Given the description of an element on the screen output the (x, y) to click on. 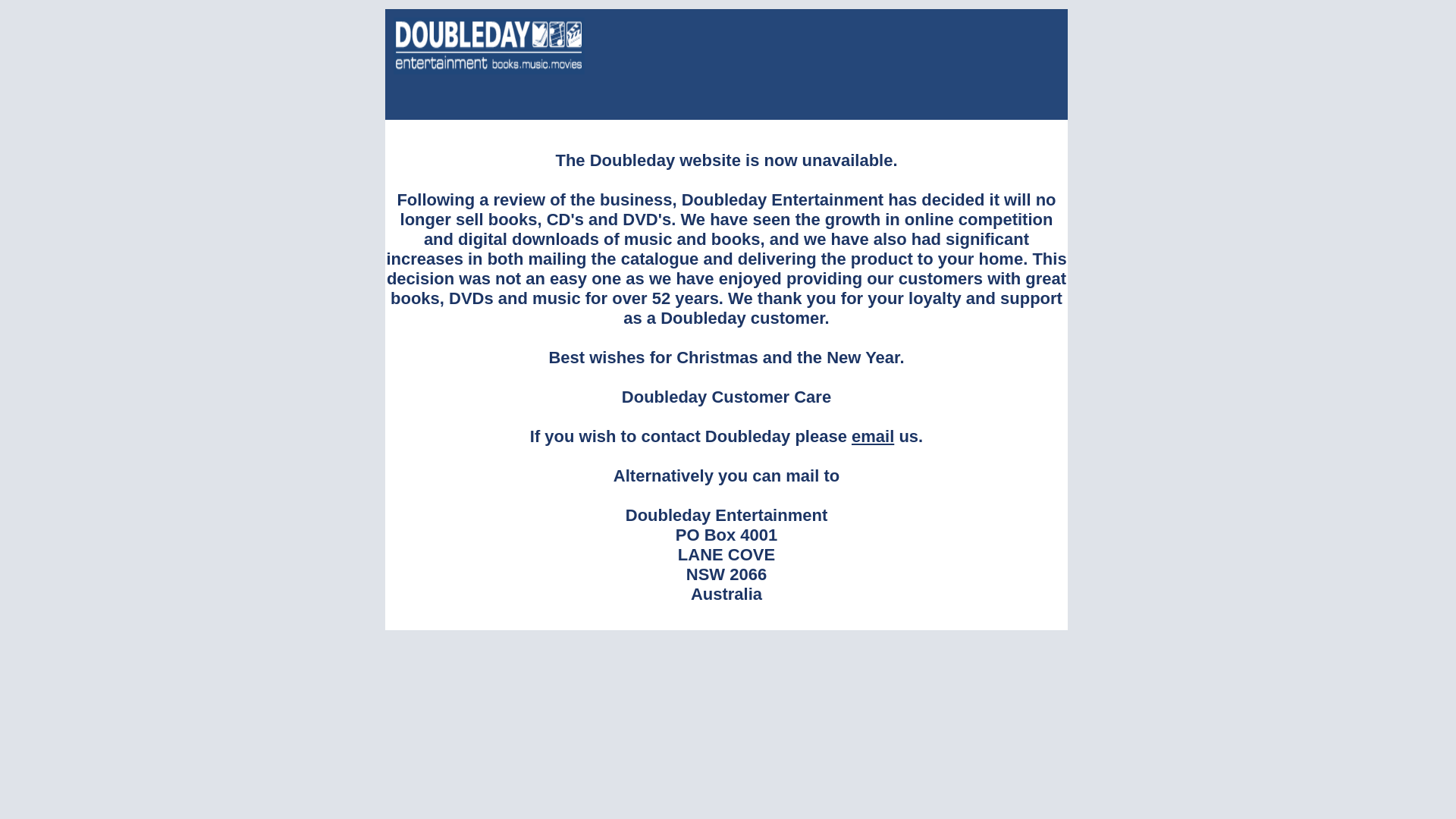
email Element type: text (872, 435)
